Given the description of an element on the screen output the (x, y) to click on. 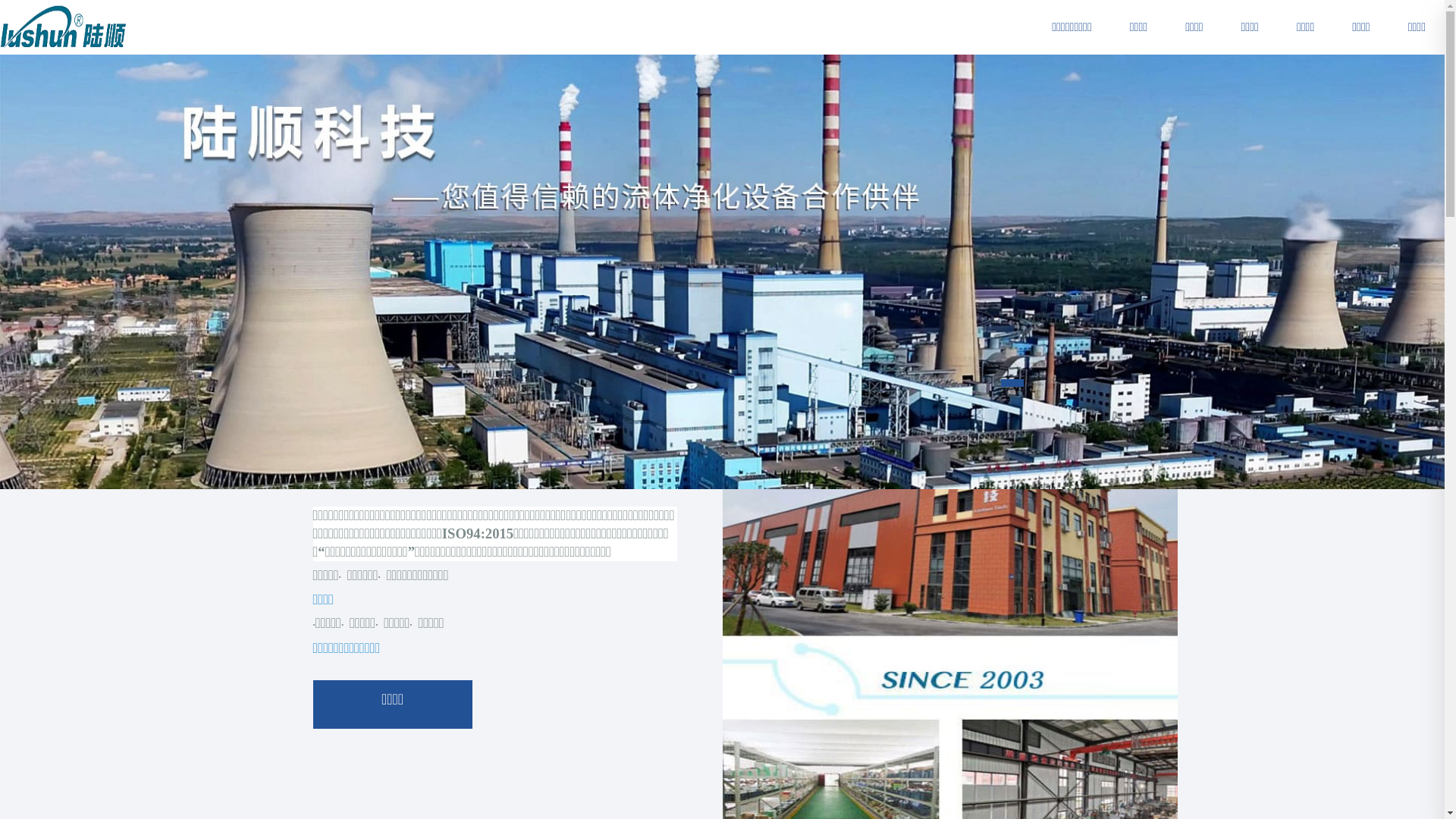
1 Element type: text (1012, 382)
